Given the description of an element on the screen output the (x, y) to click on. 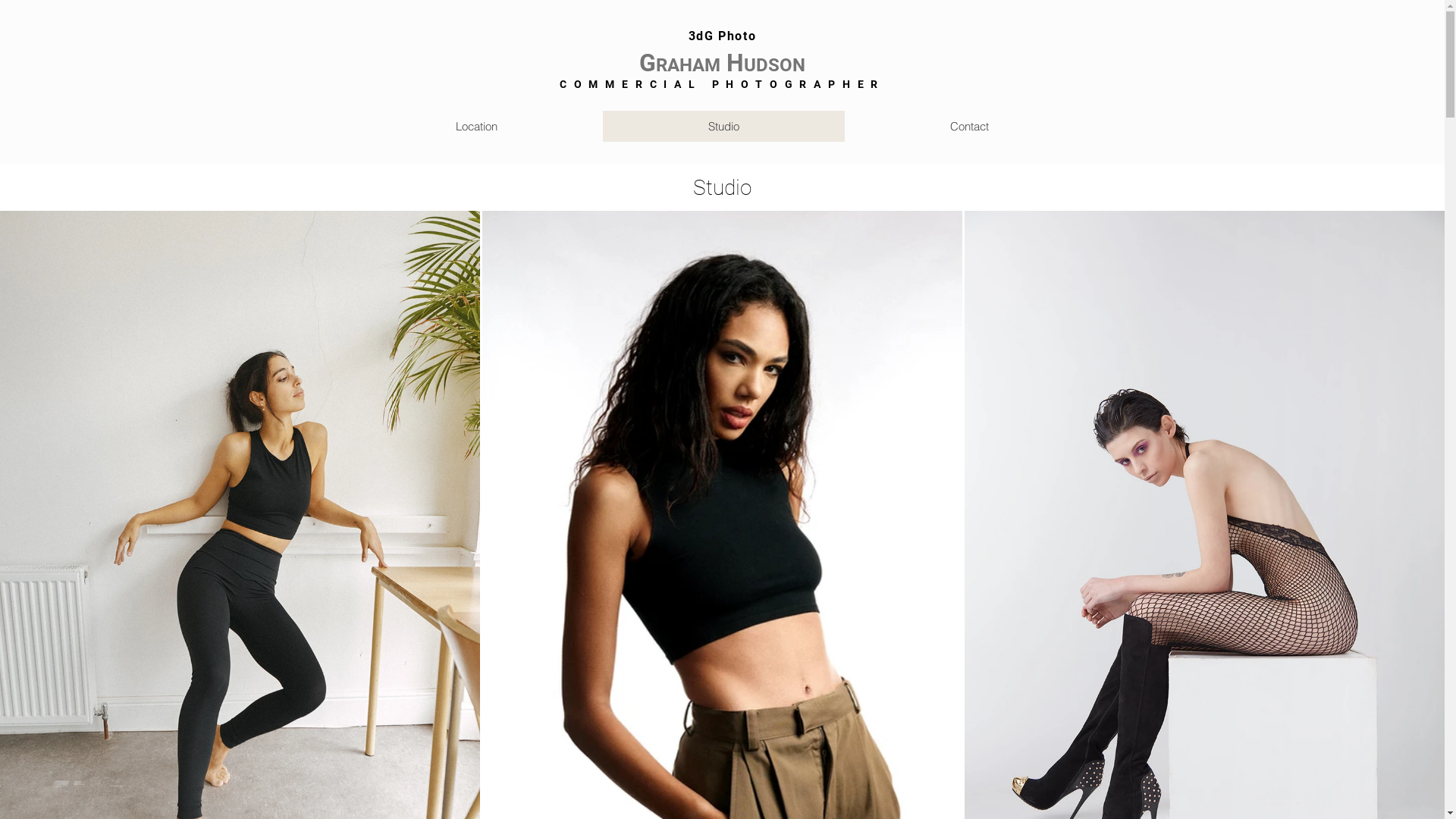
Location Element type: text (476, 125)
COMMERCIAL PHOTOGRAPHER Element type: text (721, 84)
Contact Element type: text (969, 125)
3dG Photo Element type: text (722, 35)
Studio Element type: text (723, 125)
